Given the description of an element on the screen output the (x, y) to click on. 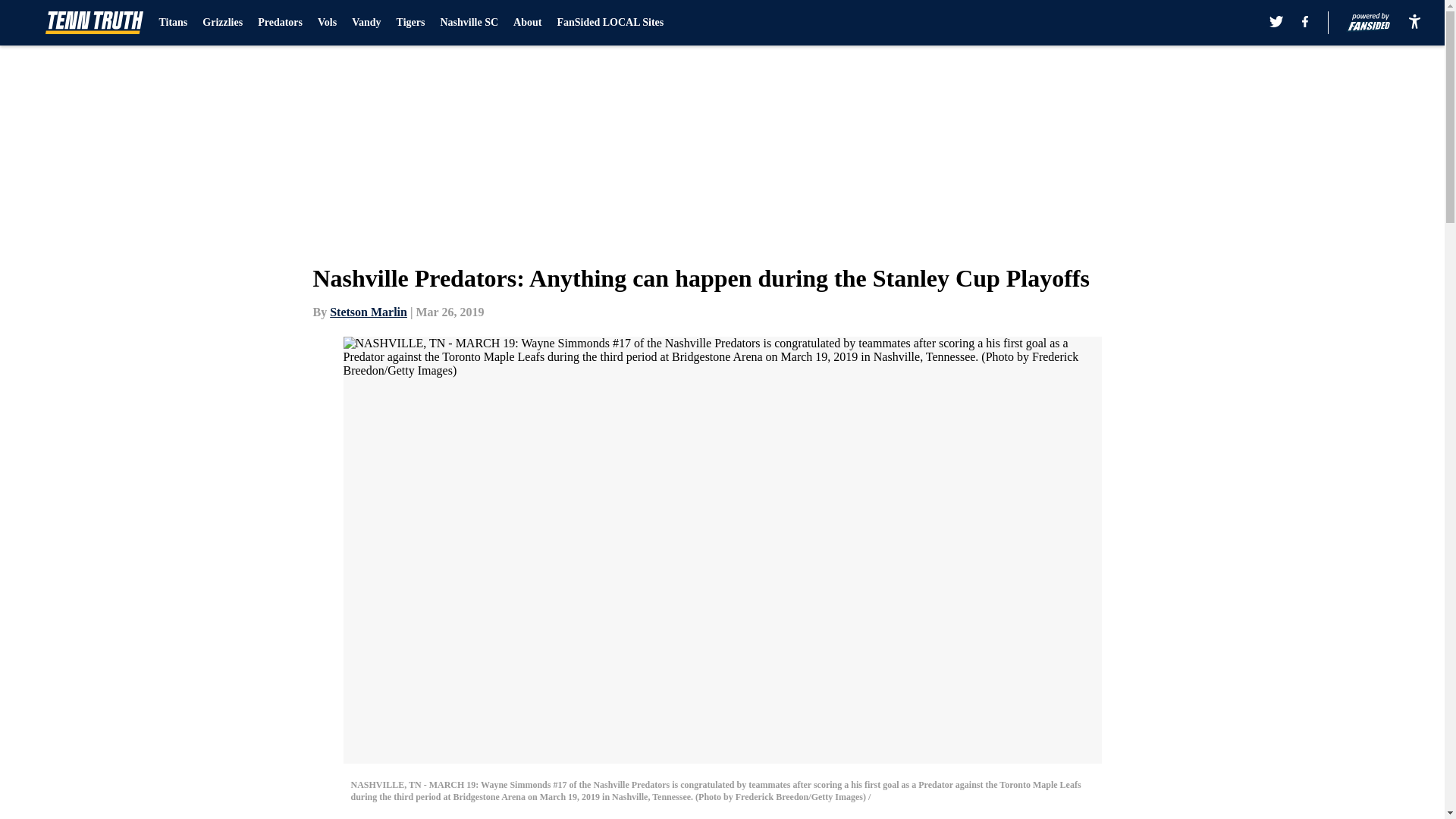
Predators (279, 22)
Stetson Marlin (368, 311)
Titans (172, 22)
Vols (326, 22)
About (527, 22)
Grizzlies (222, 22)
FanSided LOCAL Sites (609, 22)
Vandy (366, 22)
Tigers (410, 22)
Nashville SC (468, 22)
